Given the description of an element on the screen output the (x, y) to click on. 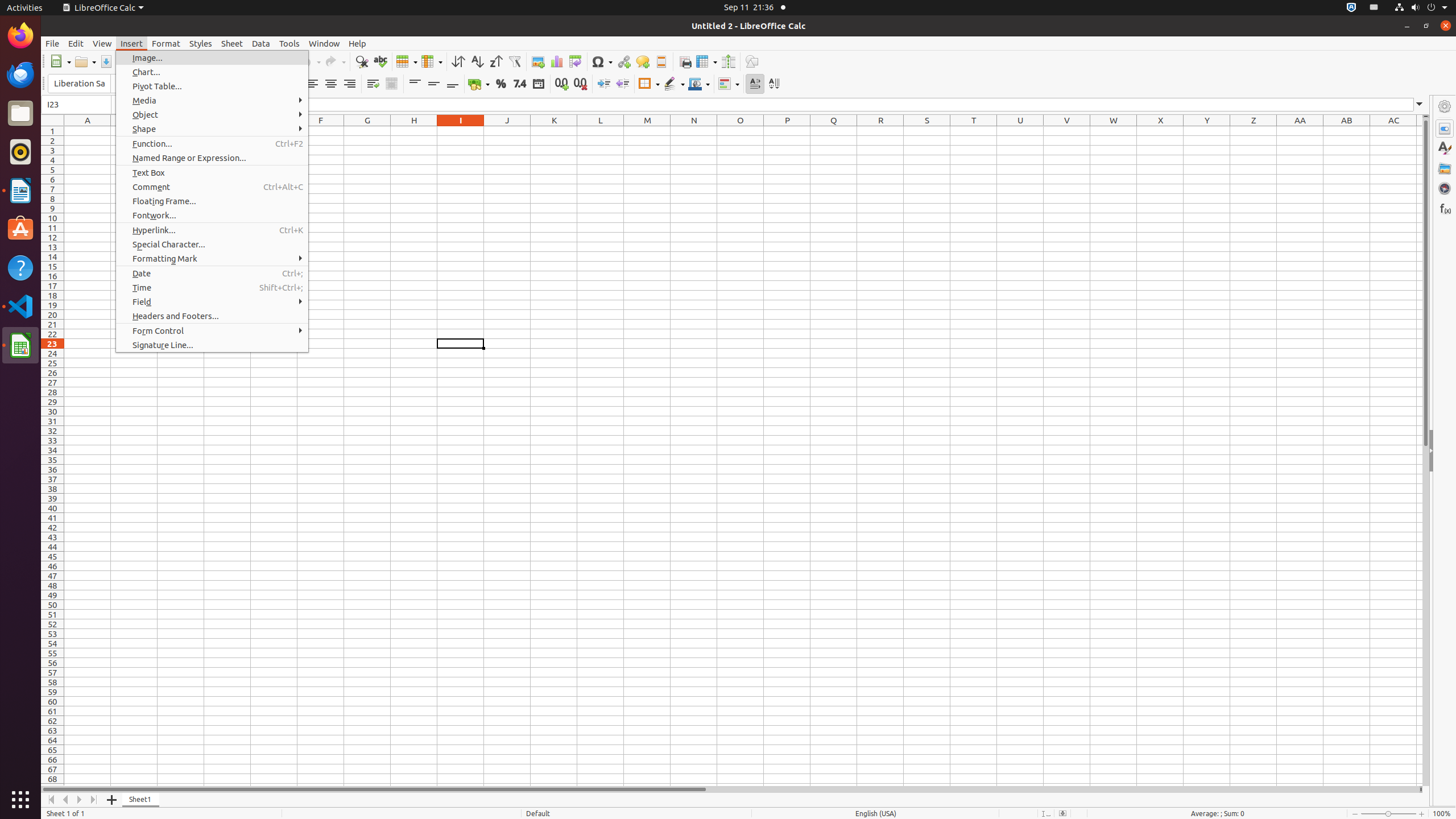
Formatting Mark Element type: menu (212, 258)
Number Element type: push-button (519, 83)
Align Right Element type: push-button (349, 83)
Signature Line... Element type: menu-item (212, 344)
Hyperlink Element type: toggle-button (623, 61)
